Given the description of an element on the screen output the (x, y) to click on. 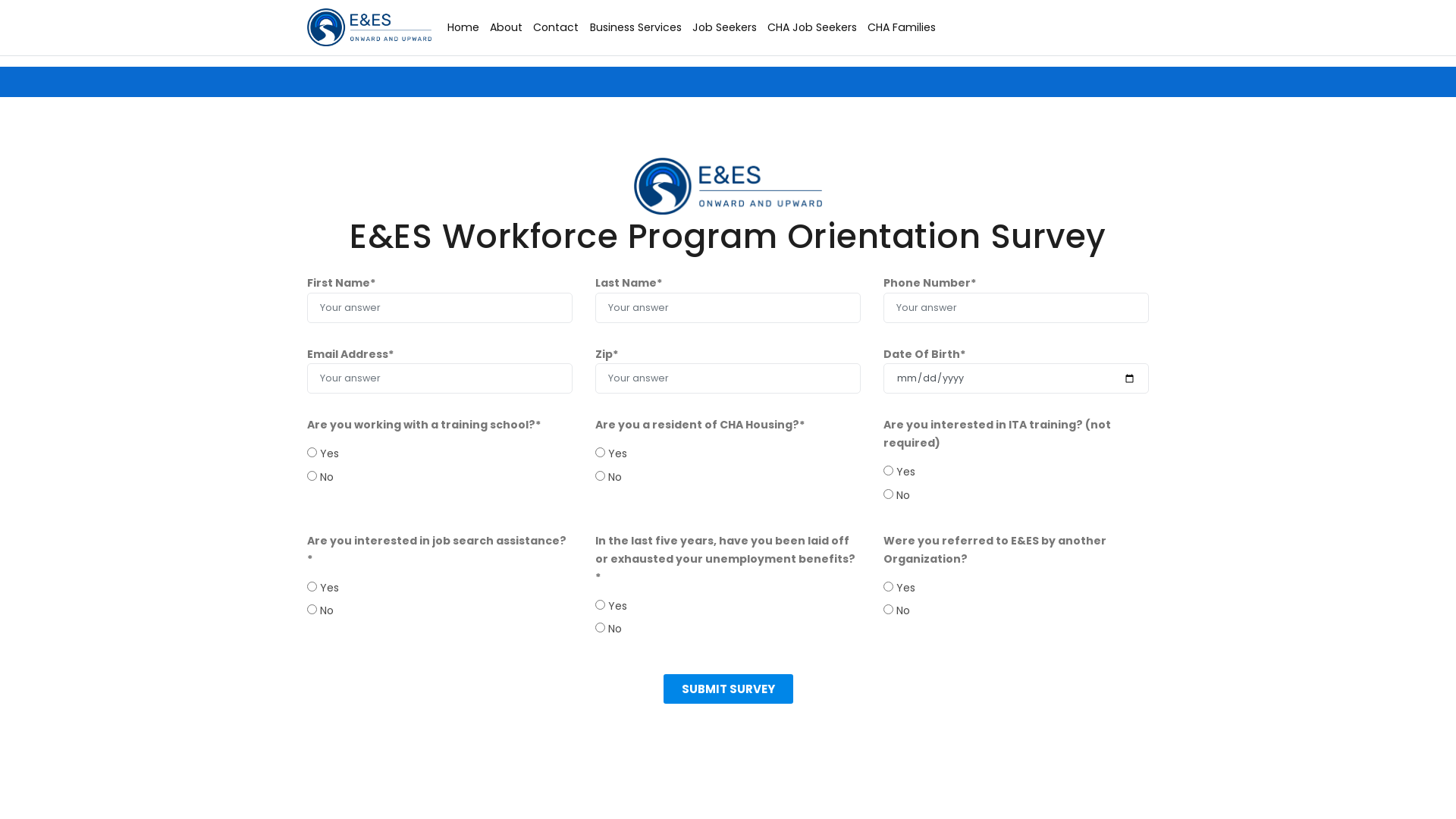
Contact Element type: text (555, 27)
About Element type: text (505, 27)
SUBMIT SURVEY Element type: text (727, 688)
Home Element type: text (463, 27)
CHA Families Element type: text (901, 27)
Business Services Element type: text (634, 27)
CHA Job Seekers Element type: text (812, 27)
Job Seekers Element type: text (724, 27)
